Given the description of an element on the screen output the (x, y) to click on. 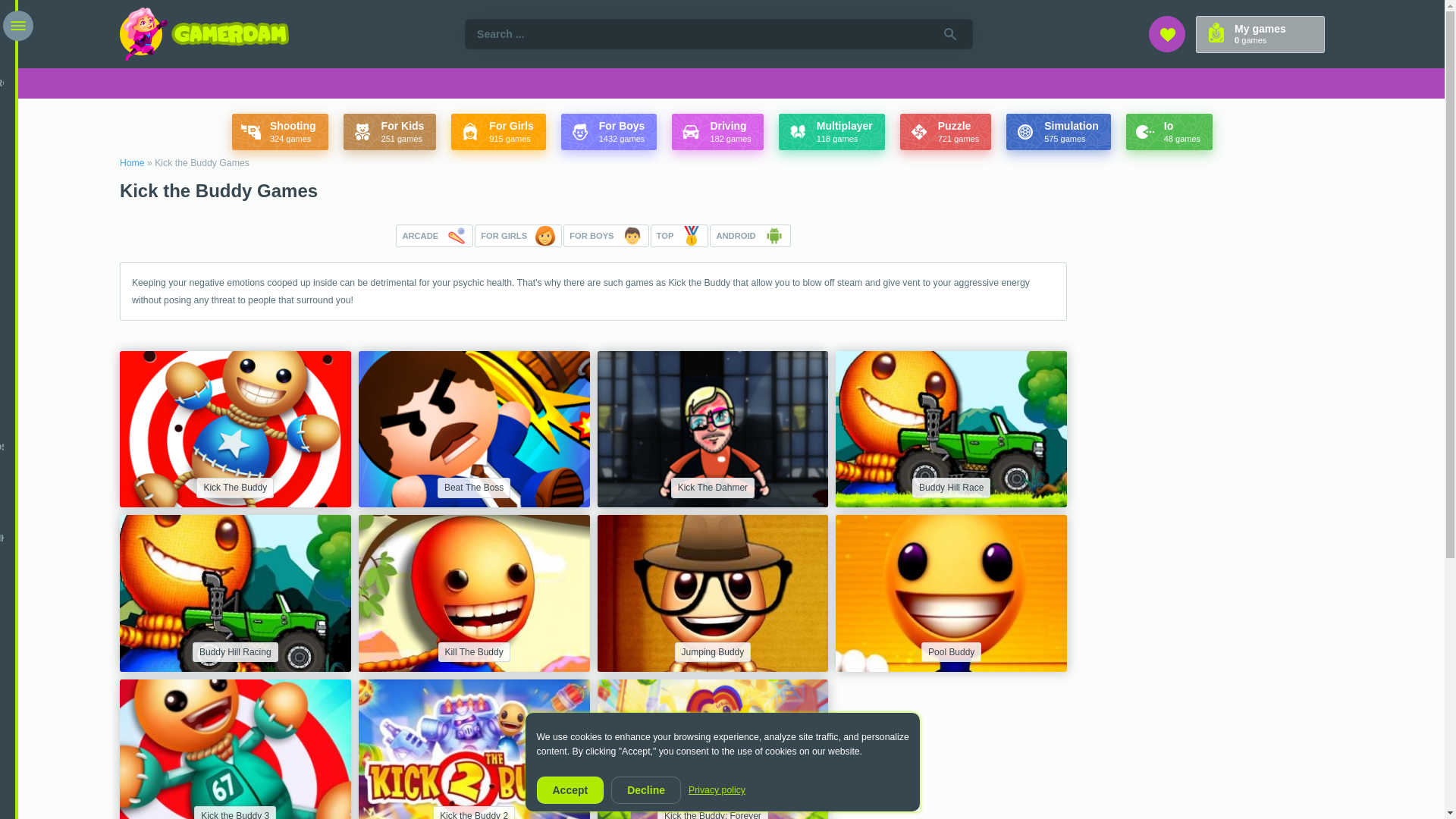
Search ... (718, 33)
Search ... (718, 33)
